Given the description of an element on the screen output the (x, y) to click on. 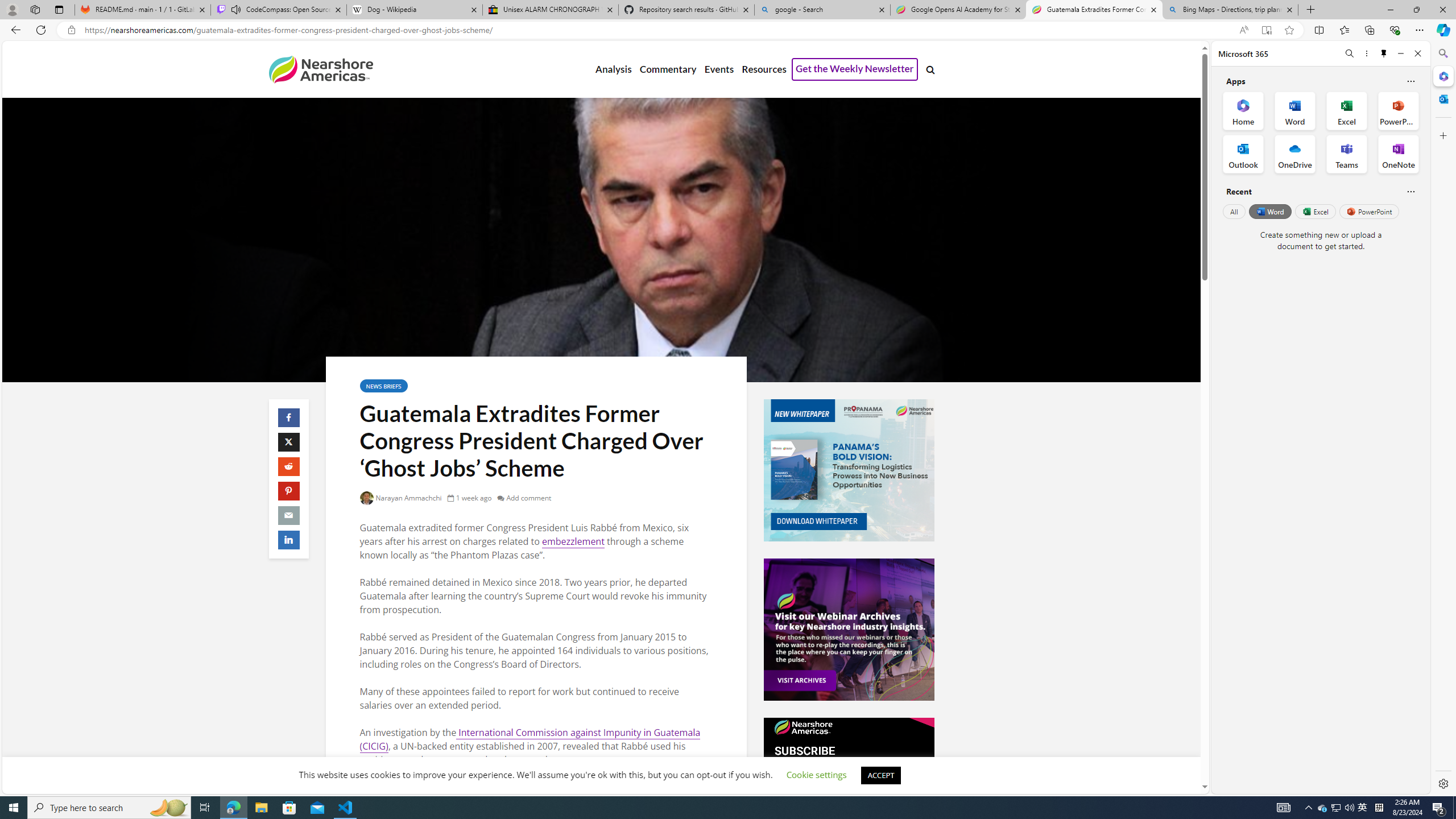
Nearshore Americas (319, 68)
Commentary (667, 69)
All (1233, 210)
Analysis (613, 69)
ACCEPT (880, 775)
Resources (763, 69)
OneDrive Office App (1295, 154)
Unpin side pane (1383, 53)
Mute tab (235, 8)
Excel Office App (1346, 110)
OneNote Office App (1398, 154)
Analysis (613, 69)
